Given the description of an element on the screen output the (x, y) to click on. 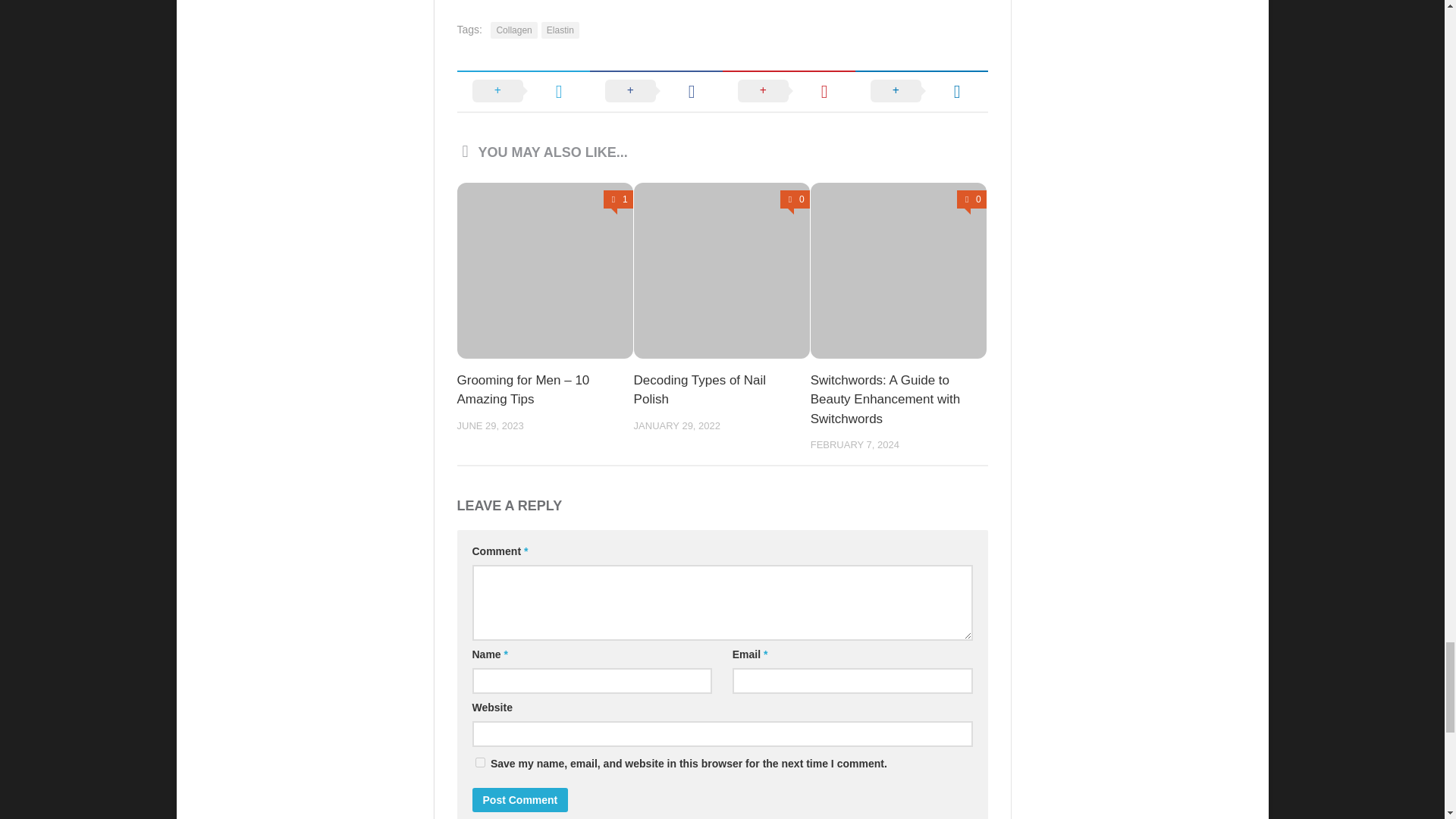
Post Comment (519, 799)
Share on Facebook (655, 90)
yes (479, 762)
Share on X (523, 90)
Share on Pinterest (788, 90)
Share on LinkedIn (922, 90)
